Given the description of an element on the screen output the (x, y) to click on. 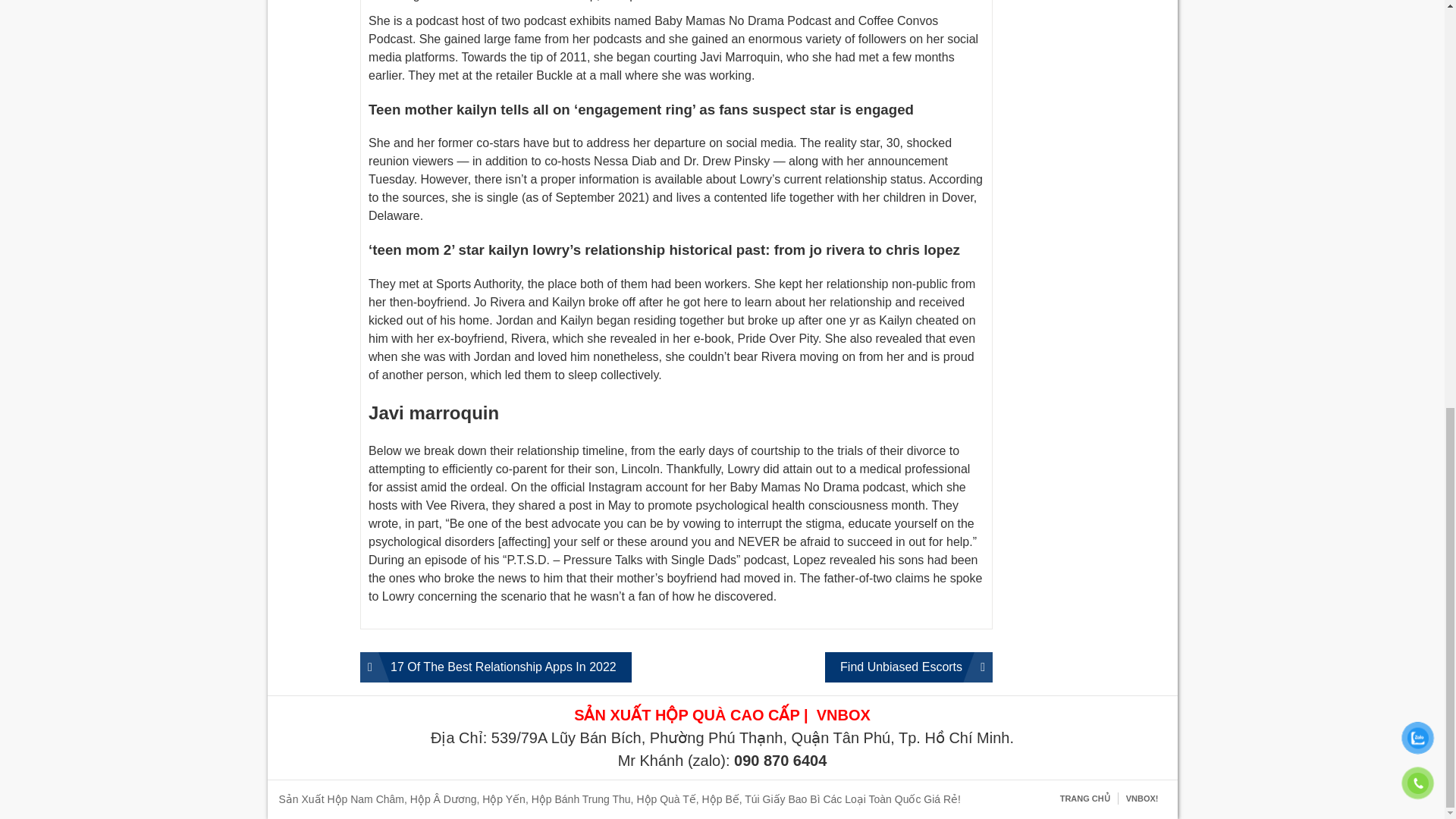
17 Of The Best Relationship Apps In 2022 (495, 666)
